Given the description of an element on the screen output the (x, y) to click on. 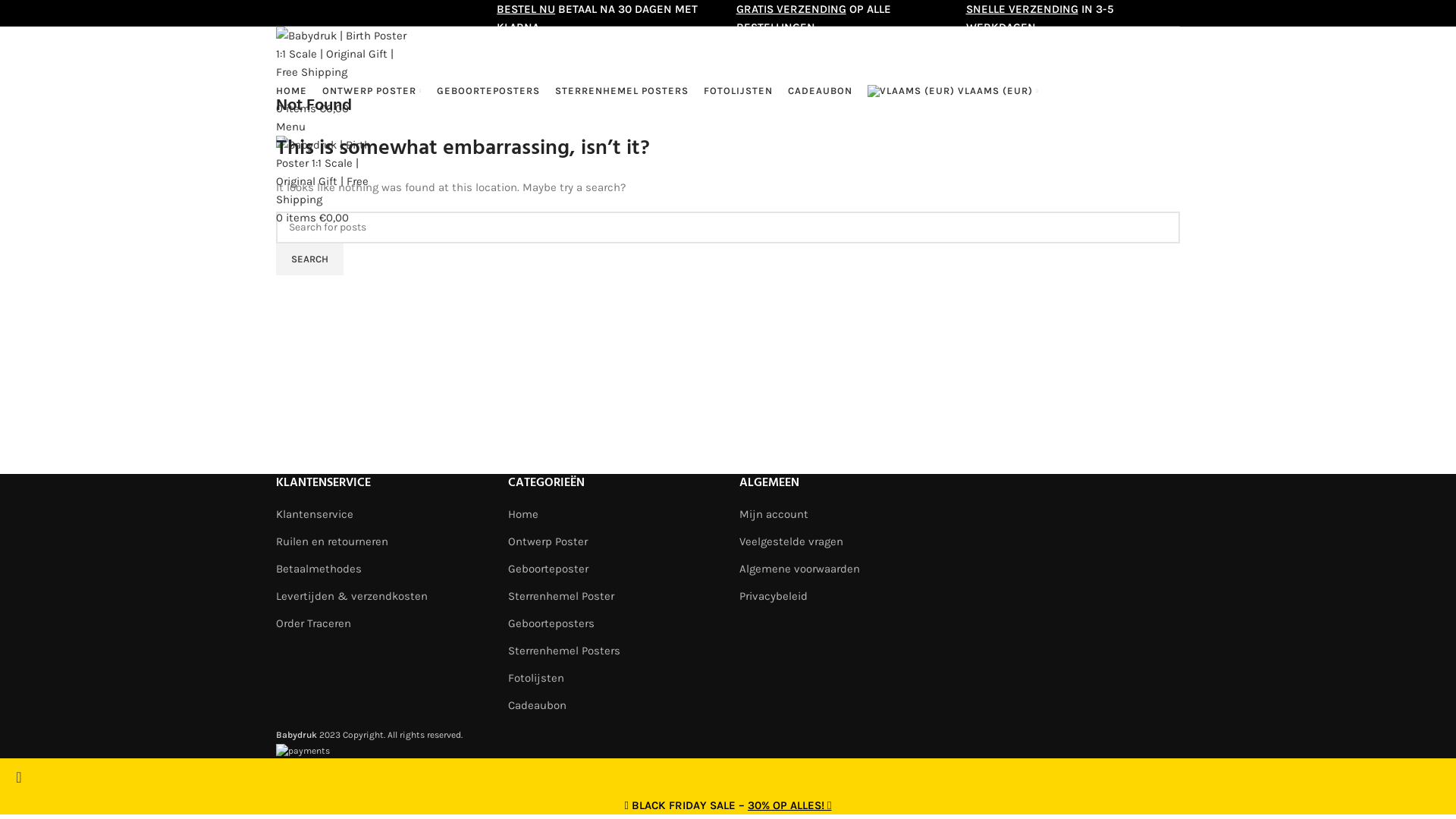
Betaalmethodes Element type: text (318, 568)
Ruilen en retourneren Element type: text (332, 541)
Ontwerp Poster Element type: text (547, 541)
Klantenservice Element type: text (314, 513)
Geboorteposters Element type: text (551, 623)
Fotolijsten Element type: text (536, 677)
STERRENHEMEL POSTERS Element type: text (621, 90)
Order Traceren Element type: text (313, 623)
Levertijden & verzendkosten Element type: text (351, 595)
Geboorteposter Element type: text (548, 568)
Mijn account Element type: text (773, 513)
CADEAUBON Element type: text (819, 90)
HOME Element type: text (291, 90)
Privacybeleid Element type: text (773, 595)
Search for posts Element type: hover (727, 227)
ONTWERP POSTER Element type: text (371, 90)
FOTOLIJSTEN Element type: text (737, 90)
Algemene voorwaarden Element type: text (799, 568)
VLAAMS (EUR) Element type: text (952, 90)
GEBOORTEPOSTERS Element type: text (487, 90)
Sterrenhemel Poster Element type: text (561, 595)
Home Element type: text (523, 513)
Cadeaubon Element type: text (537, 705)
Veelgestelde vragen Element type: text (791, 541)
Menu Element type: text (290, 126)
Sterrenhemel Posters Element type: text (564, 650)
SEARCH Element type: text (309, 259)
